Given the description of an element on the screen output the (x, y) to click on. 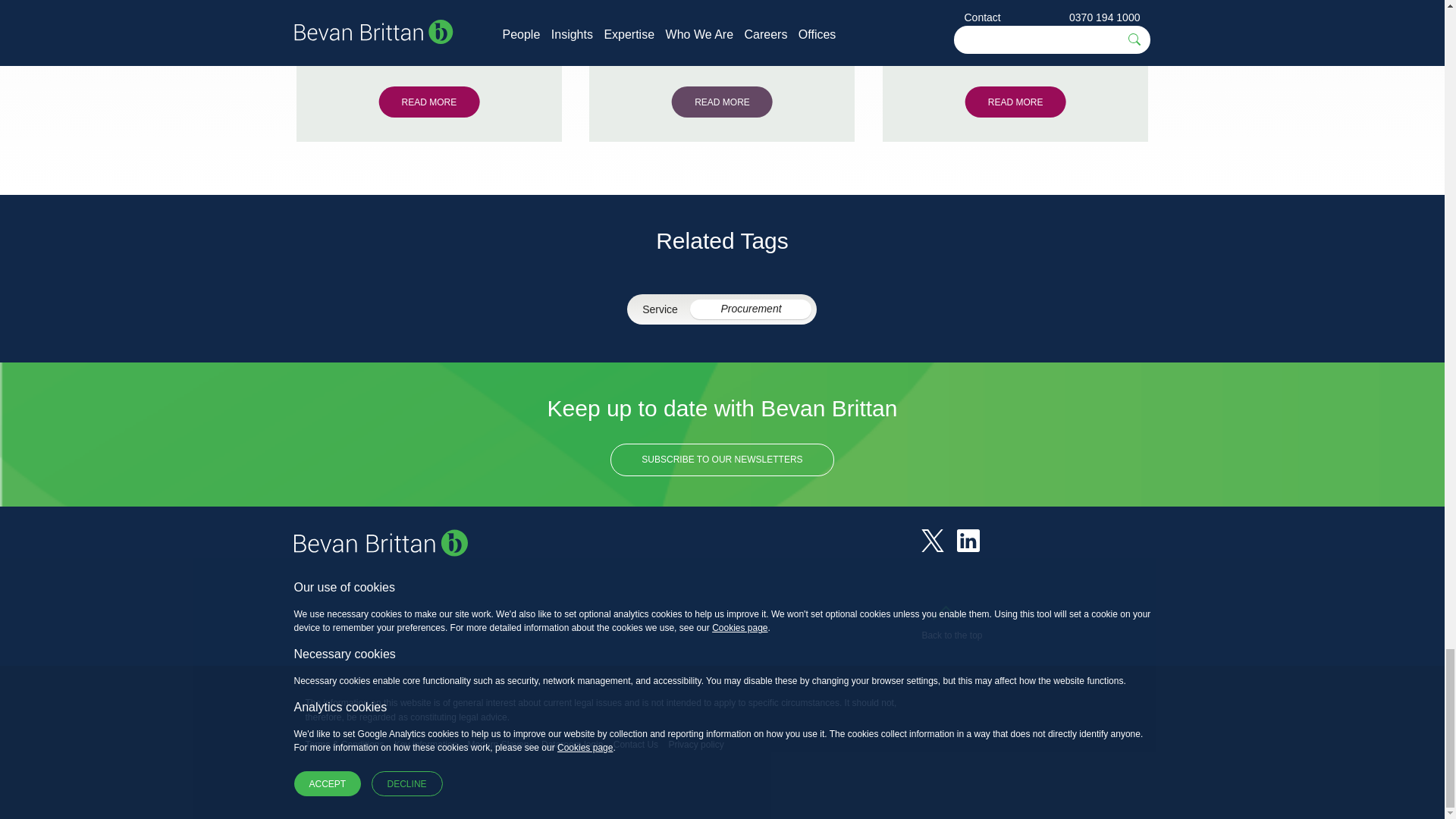
Procurement (750, 308)
READ MORE (428, 101)
Back to the top (951, 625)
READ MORE (722, 101)
